Given the description of an element on the screen output the (x, y) to click on. 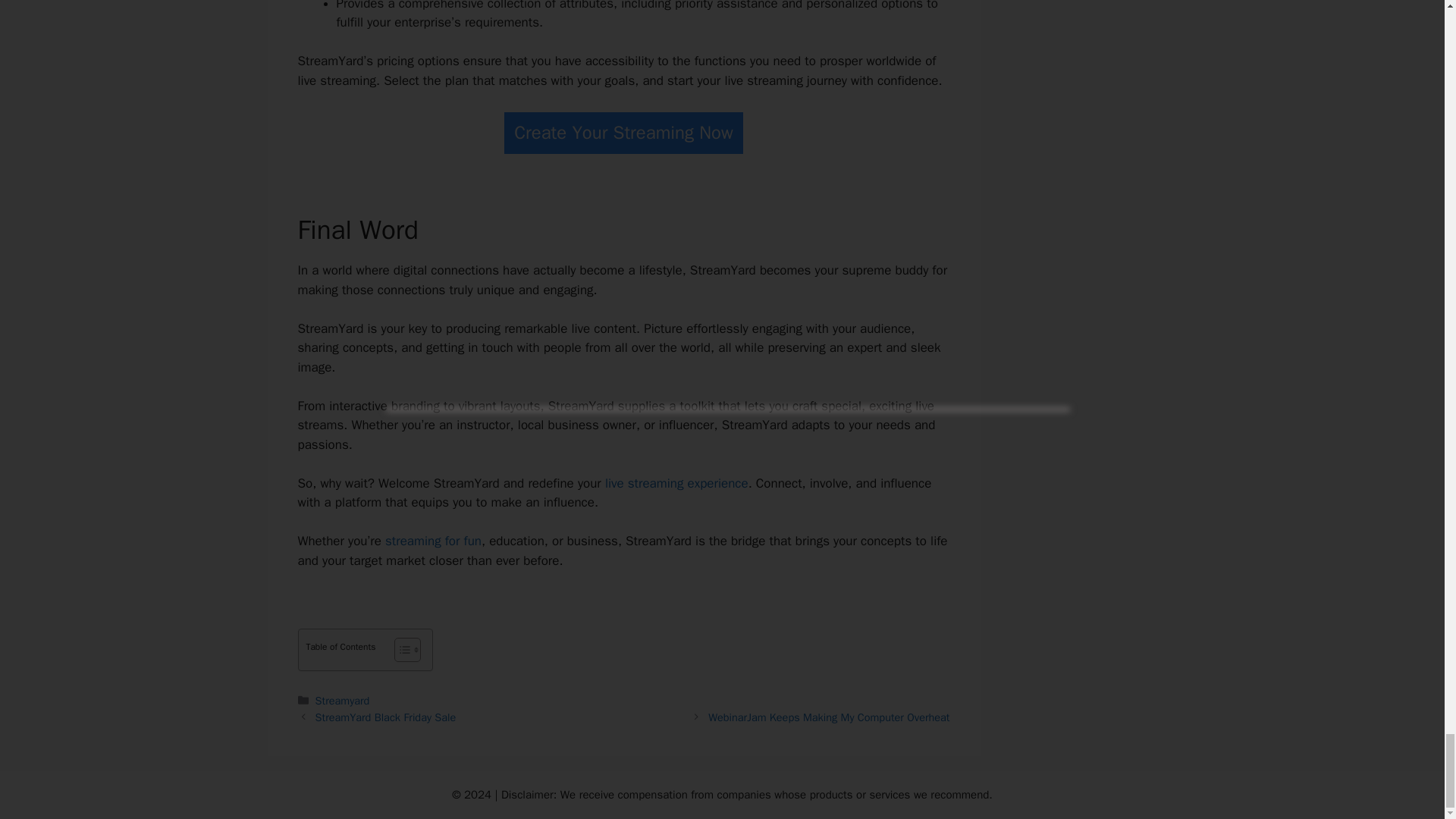
Streamyard (342, 700)
Create Your Streaming Now (622, 132)
StreamYard Black Friday Sale (386, 716)
WebinarJam Keeps Making My Computer Overheat (828, 716)
live streaming experience (676, 483)
streaming for fun (433, 540)
